Given the description of an element on the screen output the (x, y) to click on. 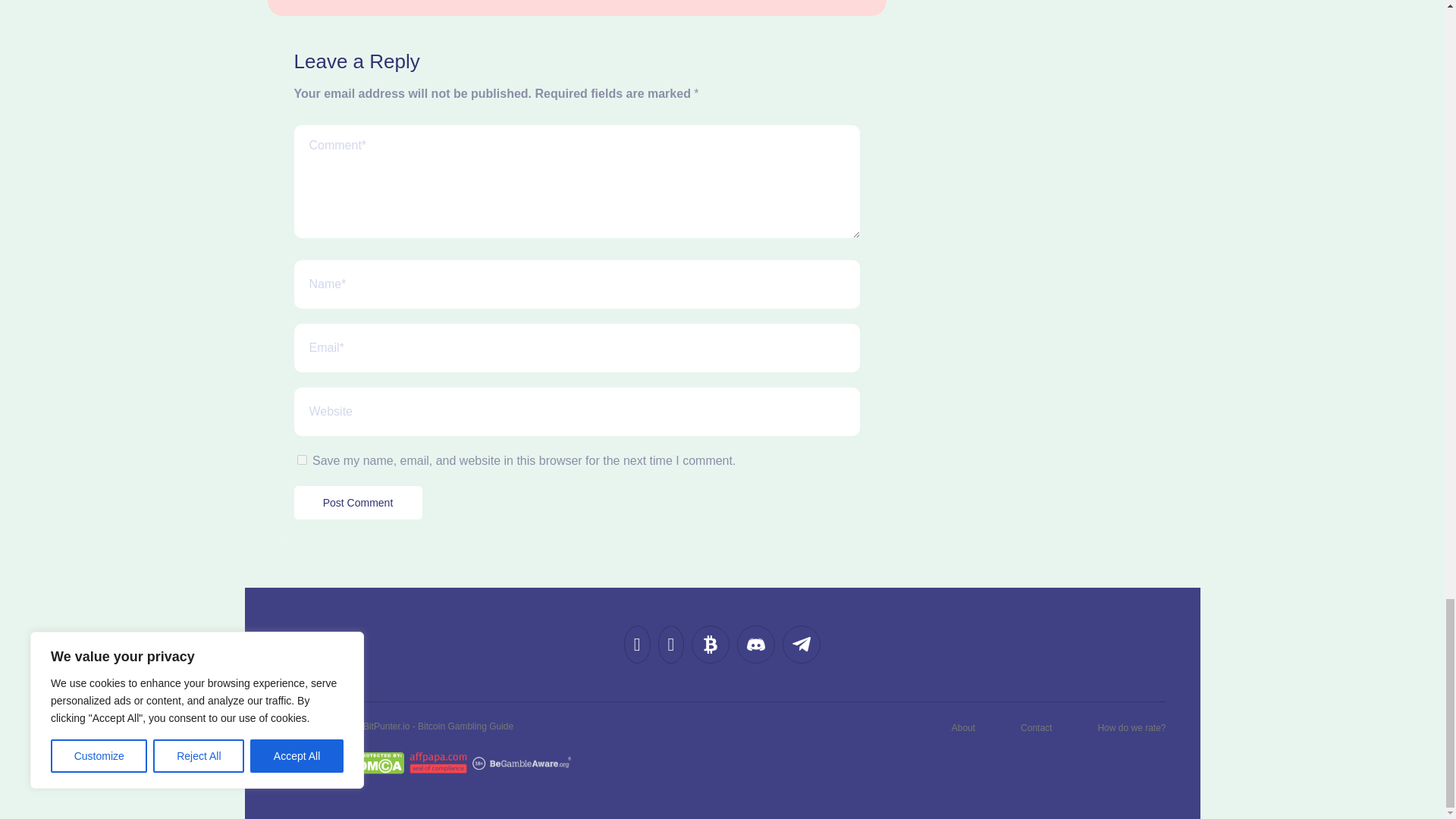
Post Comment (358, 502)
yes (302, 460)
